Given the description of an element on the screen output the (x, y) to click on. 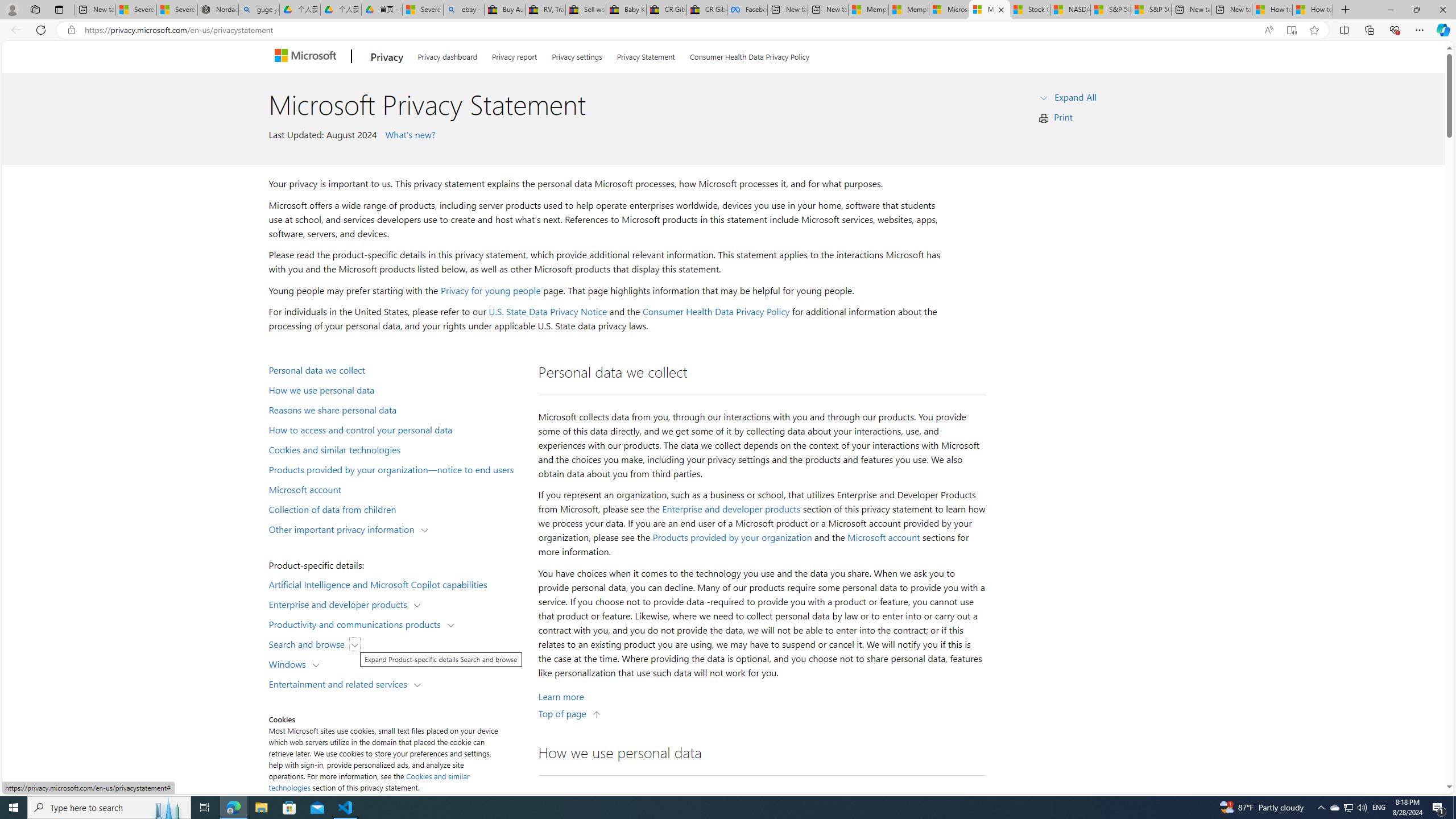
Enterprise and developer products (731, 508)
Microsoft (306, 56)
Entertainment and related services (340, 683)
Windows (289, 663)
Enter Immersive Reader (F9) (1291, 29)
Cookies and similar technologies (368, 780)
Privacy dashboard (447, 54)
Enterprise and developer products (340, 603)
Consumer Health Data Privacy Policy (716, 311)
Print (1063, 116)
Personal data we collect (395, 368)
